Given the description of an element on the screen output the (x, y) to click on. 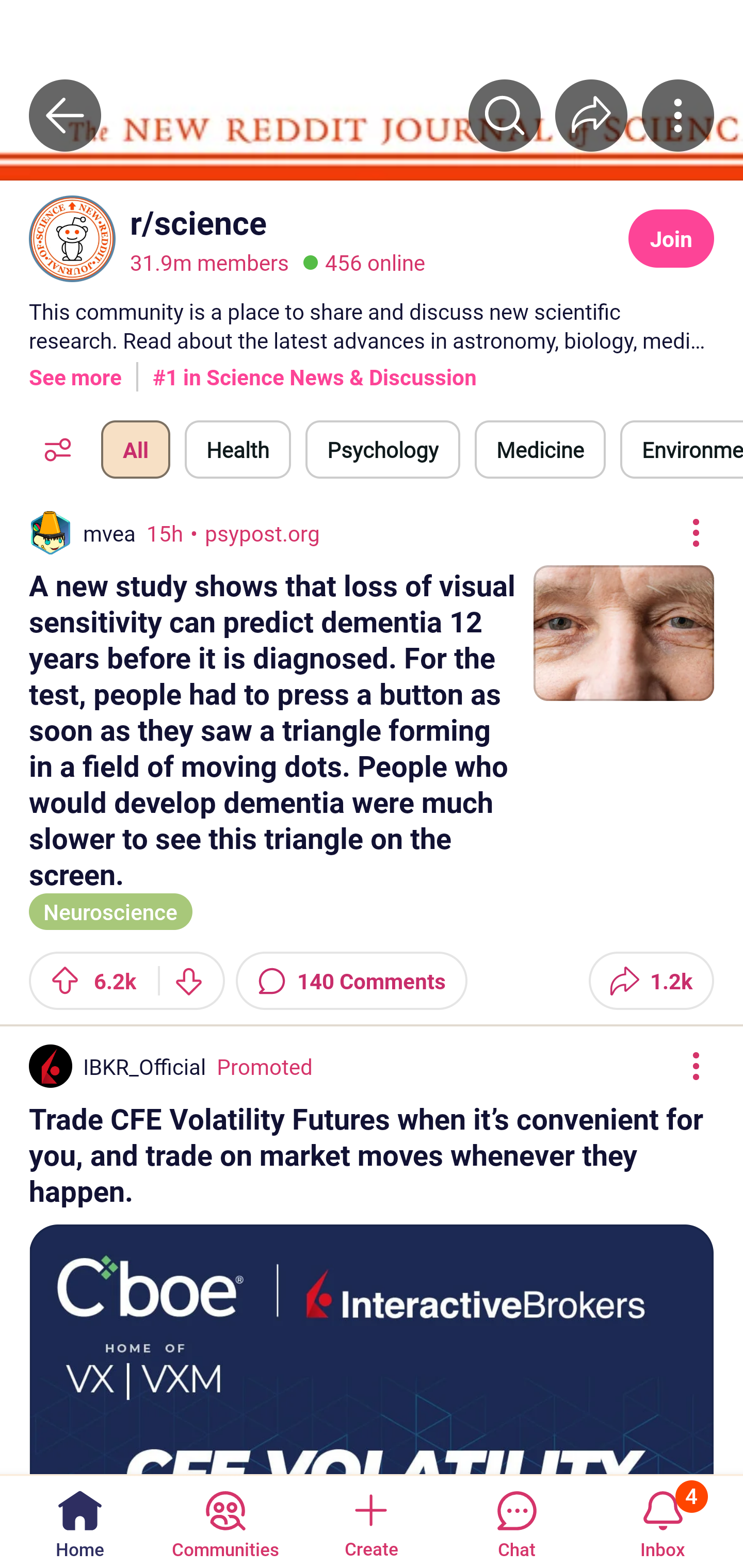
Back (64, 115)
Search r/﻿science (504, 115)
Share r/﻿science (591, 115)
More community actions (677, 115)
Feed Options (53, 449)
All (135, 449)
Health (238, 449)
Psychology (382, 449)
Medicine (539, 449)
Environment (681, 449)
Neuroscience (110, 909)
Home (80, 1520)
Communities (225, 1520)
Create a post Create (370, 1520)
Chat (516, 1520)
Inbox, has 4 notifications 4 Inbox (662, 1520)
